Given the description of an element on the screen output the (x, y) to click on. 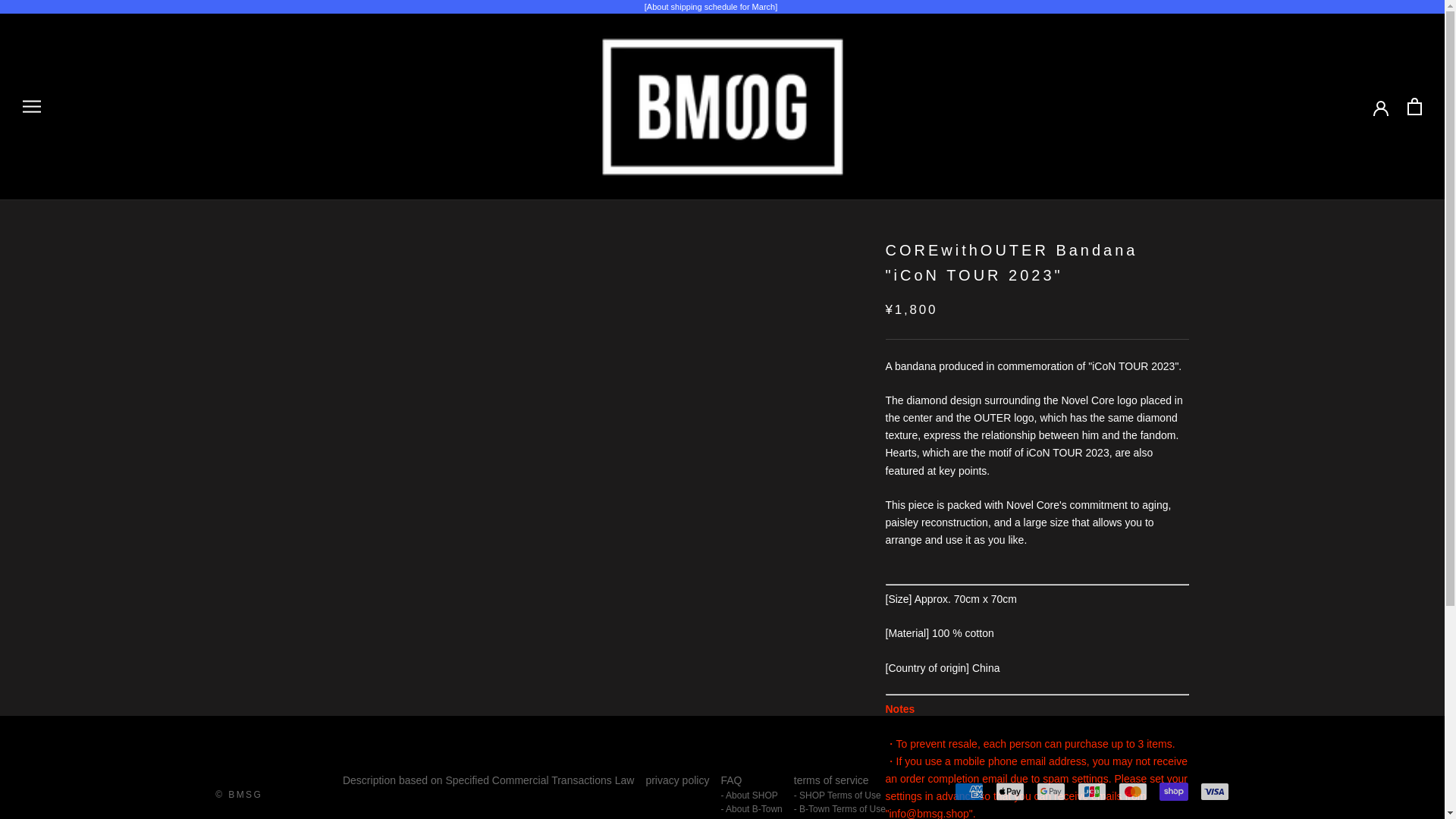
JCB (1091, 791)
Shop Pay (1173, 791)
- About SHOP (750, 795)
Mastercard (1132, 791)
American Express (969, 791)
Google Pay (1050, 791)
- About B-Town (750, 808)
- B-Town Terms of Use (839, 808)
Description based on Specified Commercial Transactions Law (487, 780)
Apple Pay (1010, 791)
